Given the description of an element on the screen output the (x, y) to click on. 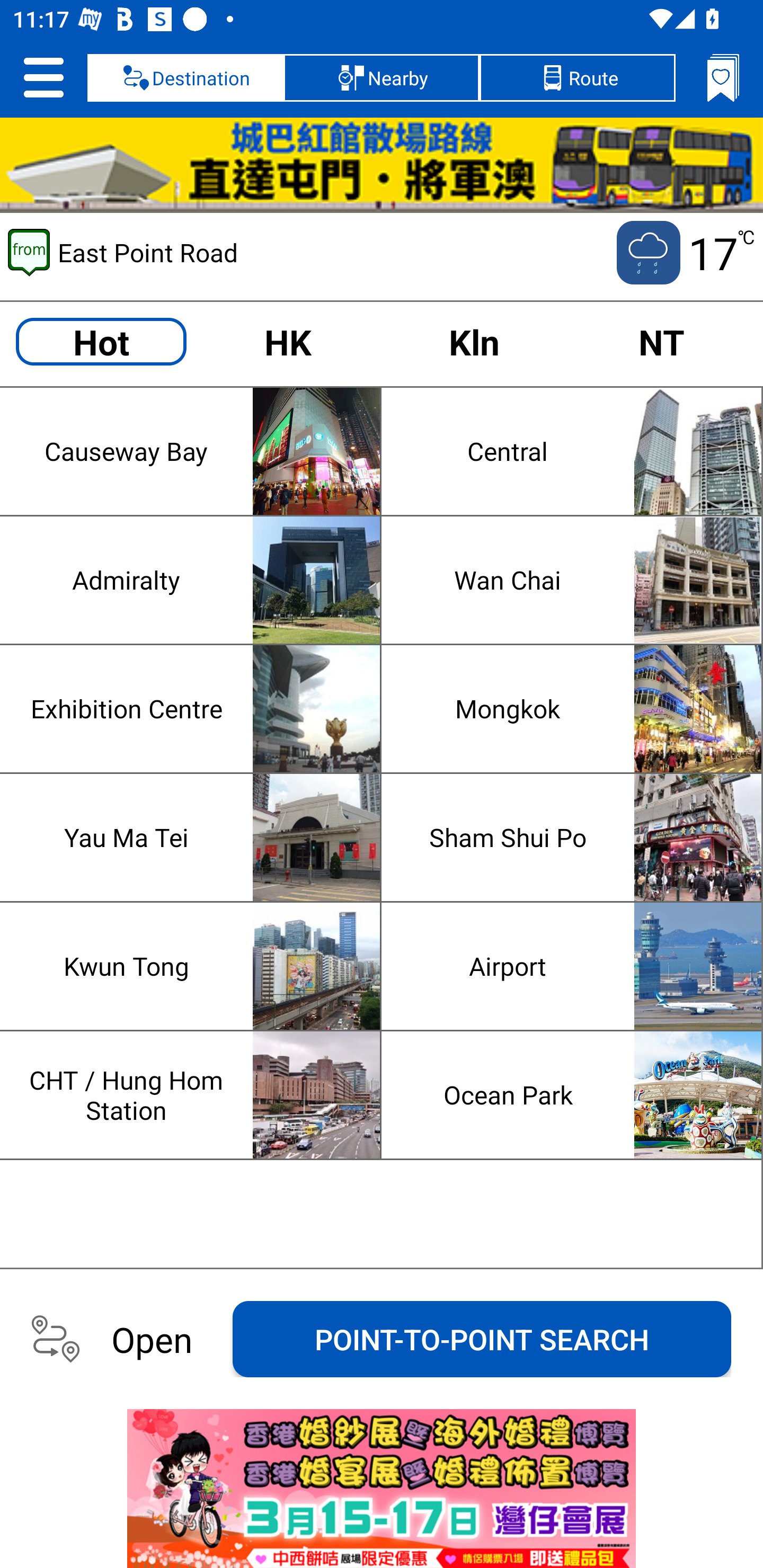
Destination, selected (185, 77)
Nearby (381, 77)
Route (577, 77)
Bookmarks (723, 77)
Setting (43, 77)
HKC (381, 165)
Current temputure is  17  no 17 ℃ (684, 252)
Hot, selected (101, 341)
HK (287, 341)
Kln (474, 341)
NT (661, 341)
Causeway Bay (193, 450)
Central (575, 450)
Admiralty (193, 578)
Wan Chai (575, 578)
Exhibition Centre (193, 708)
Mongkok (575, 708)
Yau Ma Tei (193, 837)
Sham Shui Po (575, 837)
Kwun Tong (193, 966)
Airport (575, 966)
CHT / Hung Hom Station (193, 1094)
Ocean Park (575, 1094)
POINT-TO-POINT SEARCH Destination (481, 1338)
index (381, 1488)
